Given the description of an element on the screen output the (x, y) to click on. 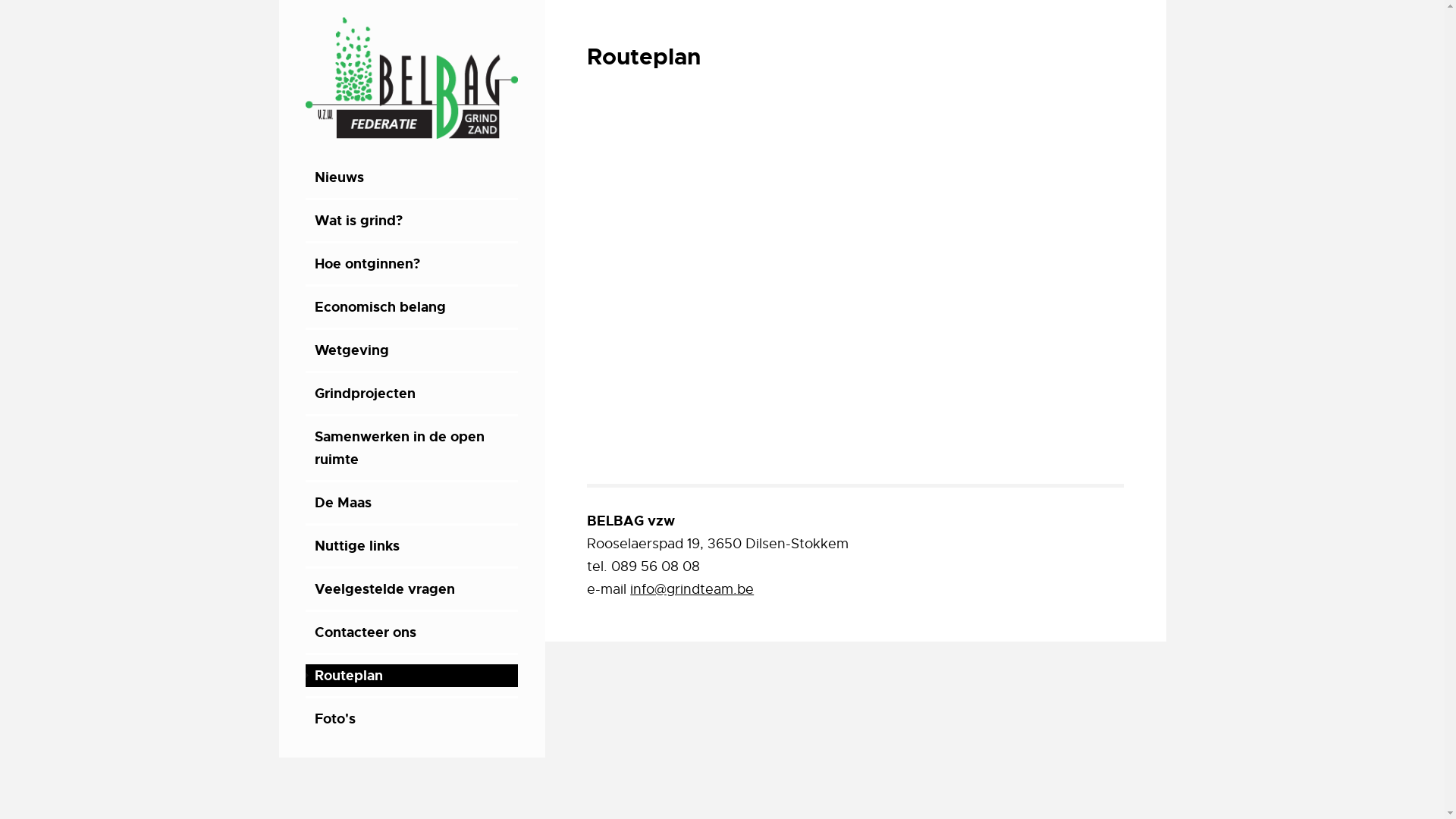
Foto's Element type: text (411, 718)
De Maas Element type: text (411, 502)
Nieuws Element type: text (411, 177)
Routeplan Element type: text (411, 675)
Nuttige links Element type: text (411, 545)
Economisch belang Element type: text (411, 306)
Veelgestelde vragen Element type: text (411, 588)
Wetgeving Element type: text (411, 349)
Samenwerken in de open ruimte Element type: text (411, 447)
Hoe ontginnen? Element type: text (411, 263)
info@grindteam.be Element type: text (691, 588)
Wat is grind? Element type: text (411, 220)
Grindprojecten Element type: text (411, 393)
Contacteer ons Element type: text (411, 632)
